Given the description of an element on the screen output the (x, y) to click on. 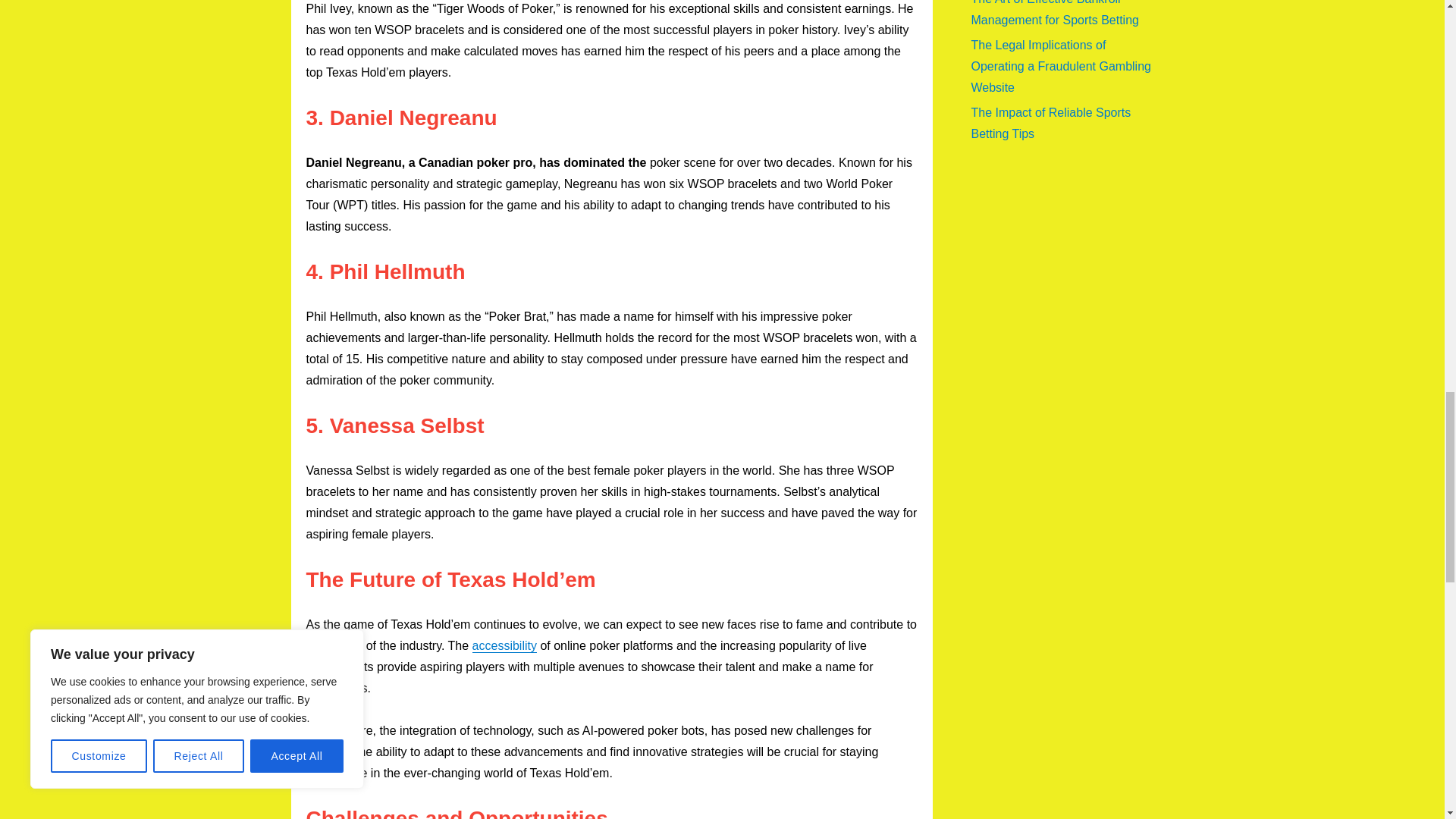
accessibility (504, 645)
